Given the description of an element on the screen output the (x, y) to click on. 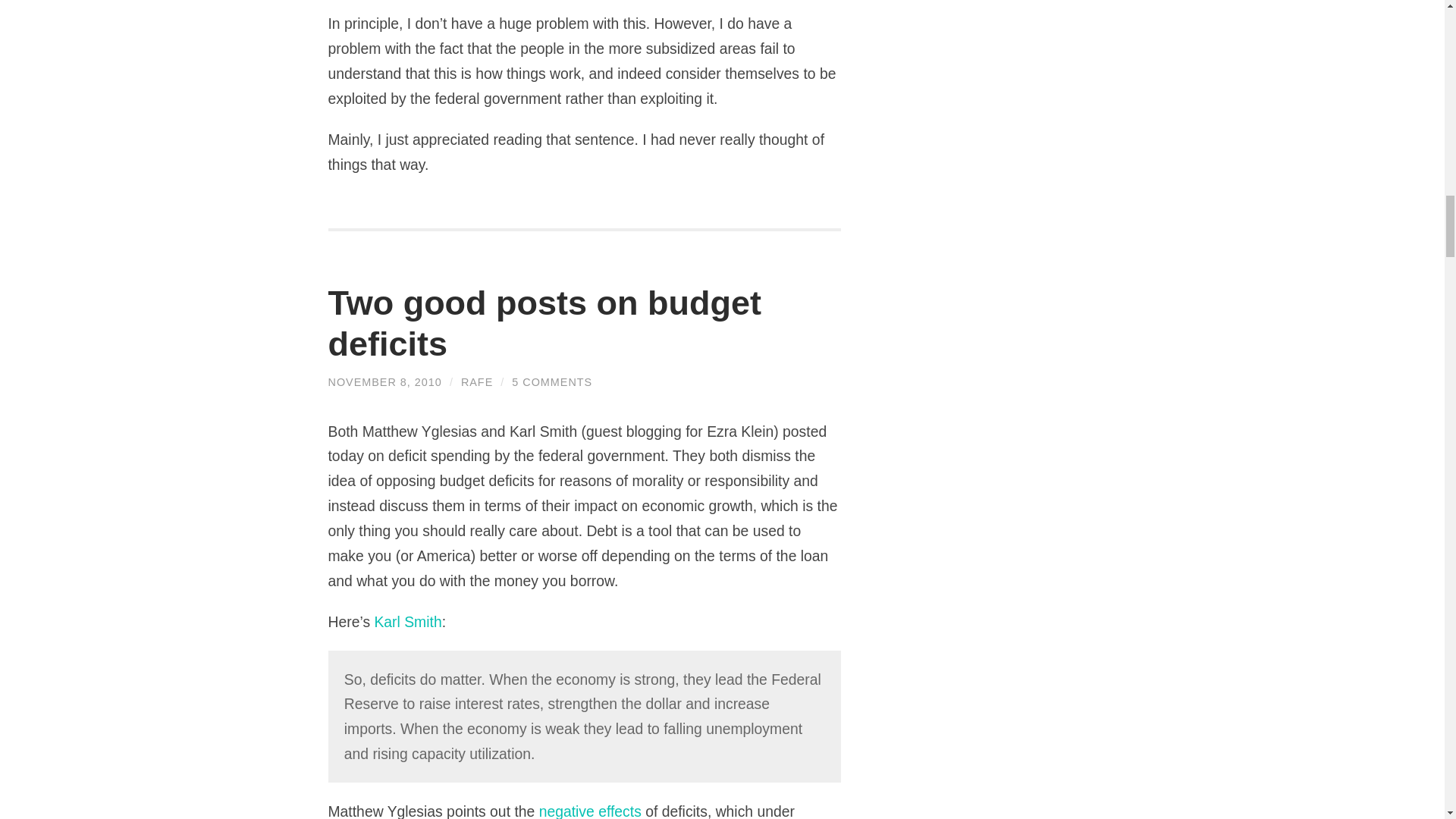
NOVEMBER 8, 2010 (384, 381)
Two good posts on budget deficits (384, 381)
5 COMMENTS (552, 381)
RAFE (477, 381)
negative effects (590, 811)
Two good posts on budget deficits (544, 323)
Posts by Rafe (477, 381)
Two good posts on budget deficits (544, 323)
Karl Smith (407, 621)
